Given the description of an element on the screen output the (x, y) to click on. 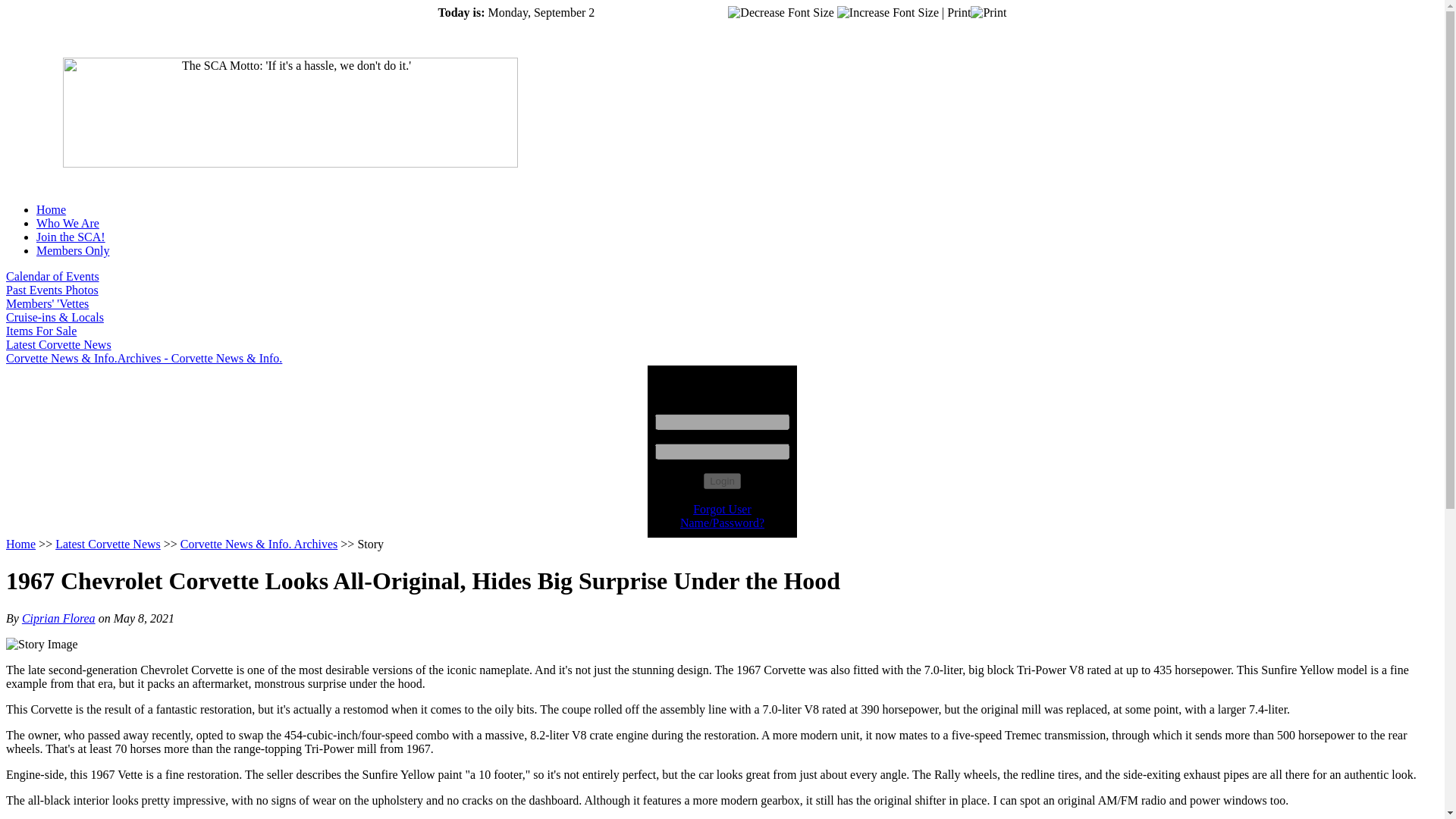
You are NOT logged in. (72, 250)
Calendar of Events (52, 276)
Print (976, 11)
Login (722, 480)
Decrease Font Size (781, 11)
Items For Sale (41, 330)
Members' 'Vettes (46, 303)
Login (722, 480)
Home (50, 209)
Latest Corvette News (58, 344)
